Given the description of an element on the screen output the (x, y) to click on. 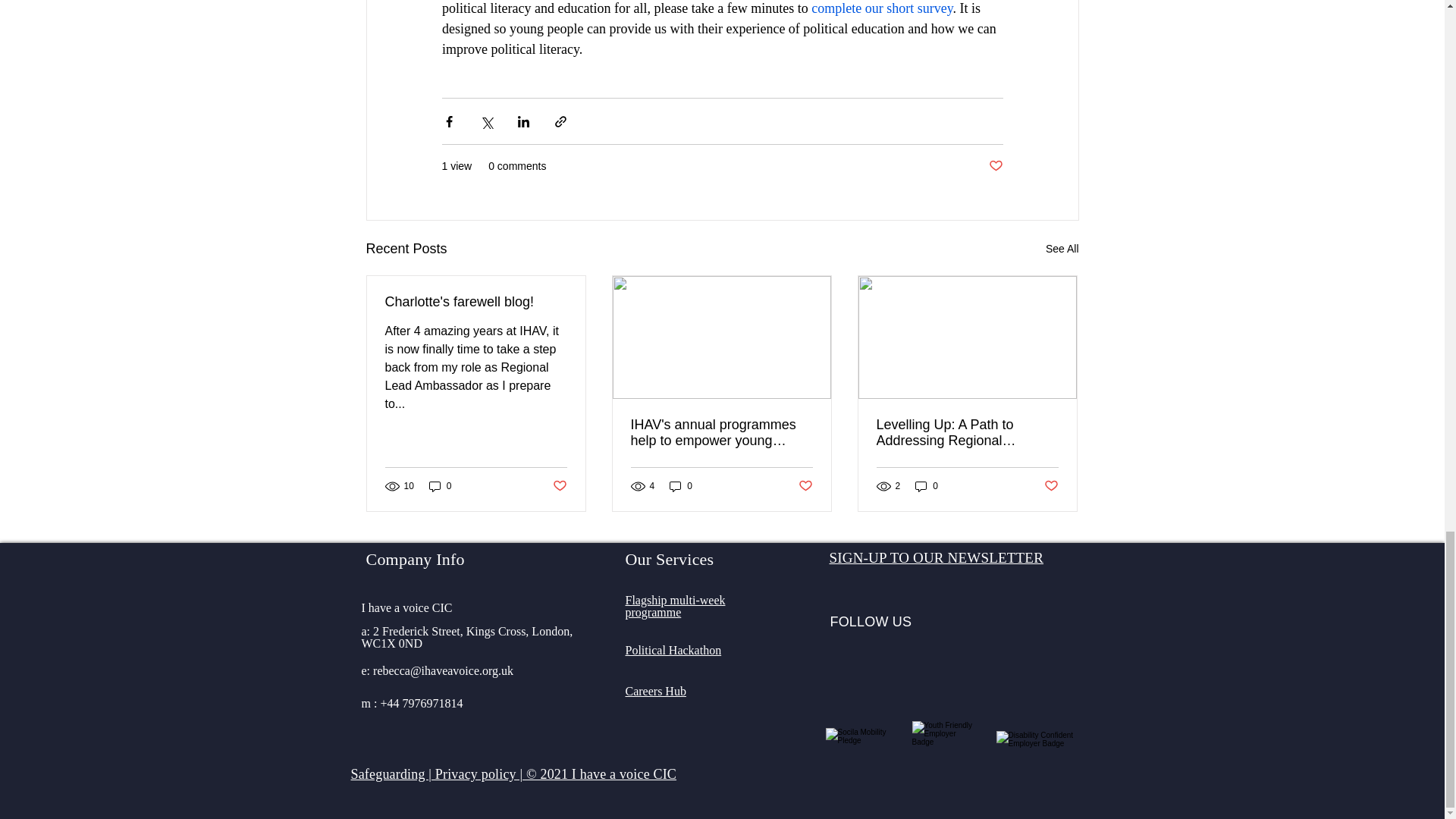
SIGN-UP TO OUR NEWSLETTER (936, 557)
complete our short survey (881, 7)
Post not marked as liked (804, 486)
Post not marked as liked (995, 166)
Charlotte's farewell blog! (476, 302)
Post not marked as liked (558, 486)
0 (674, 606)
0 (681, 486)
